Given the description of an element on the screen output the (x, y) to click on. 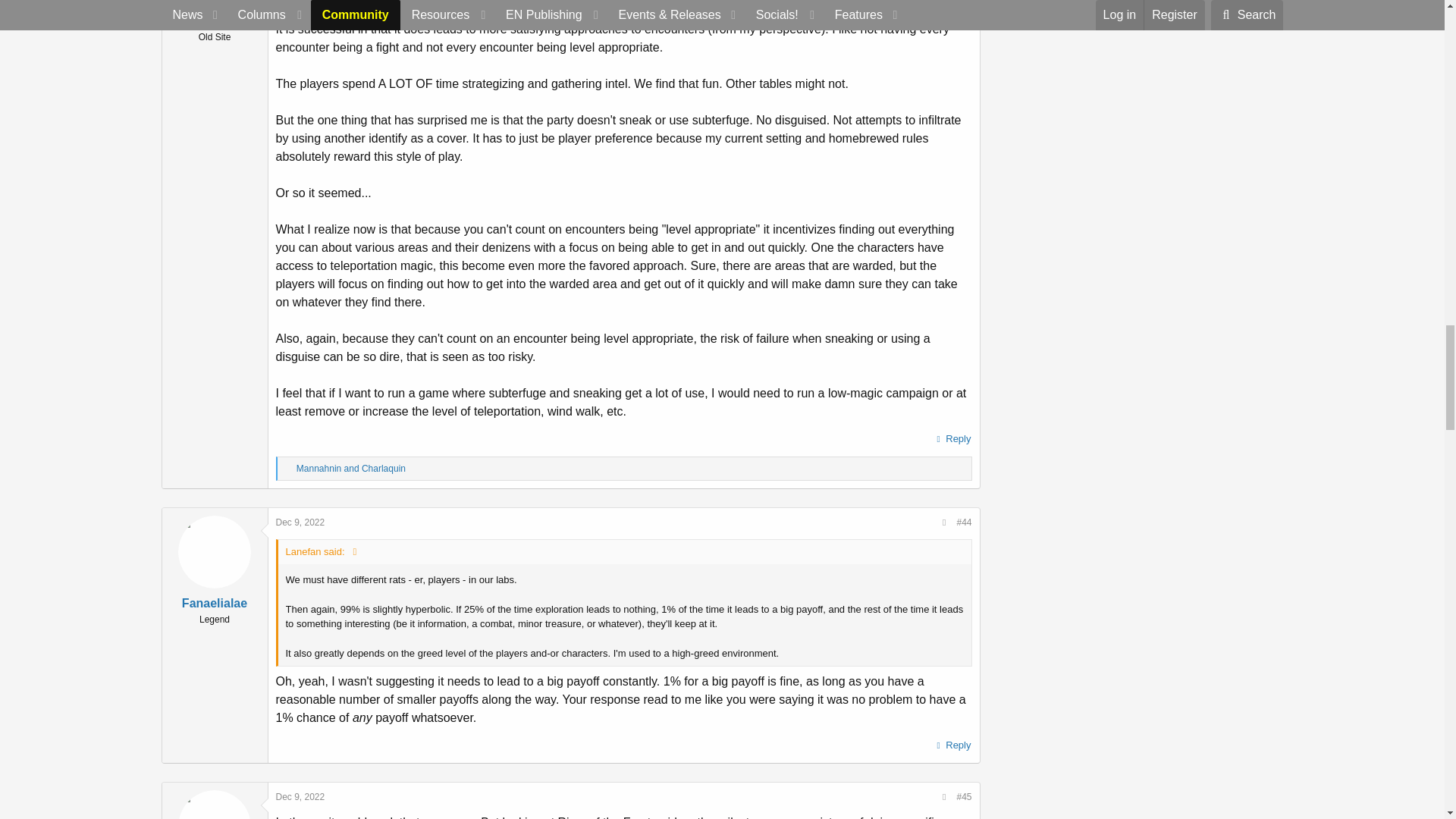
Dec 9, 2022 at 9:17 PM (300, 521)
Reply, quoting this message (952, 438)
Like (288, 469)
